Given the description of an element on the screen output the (x, y) to click on. 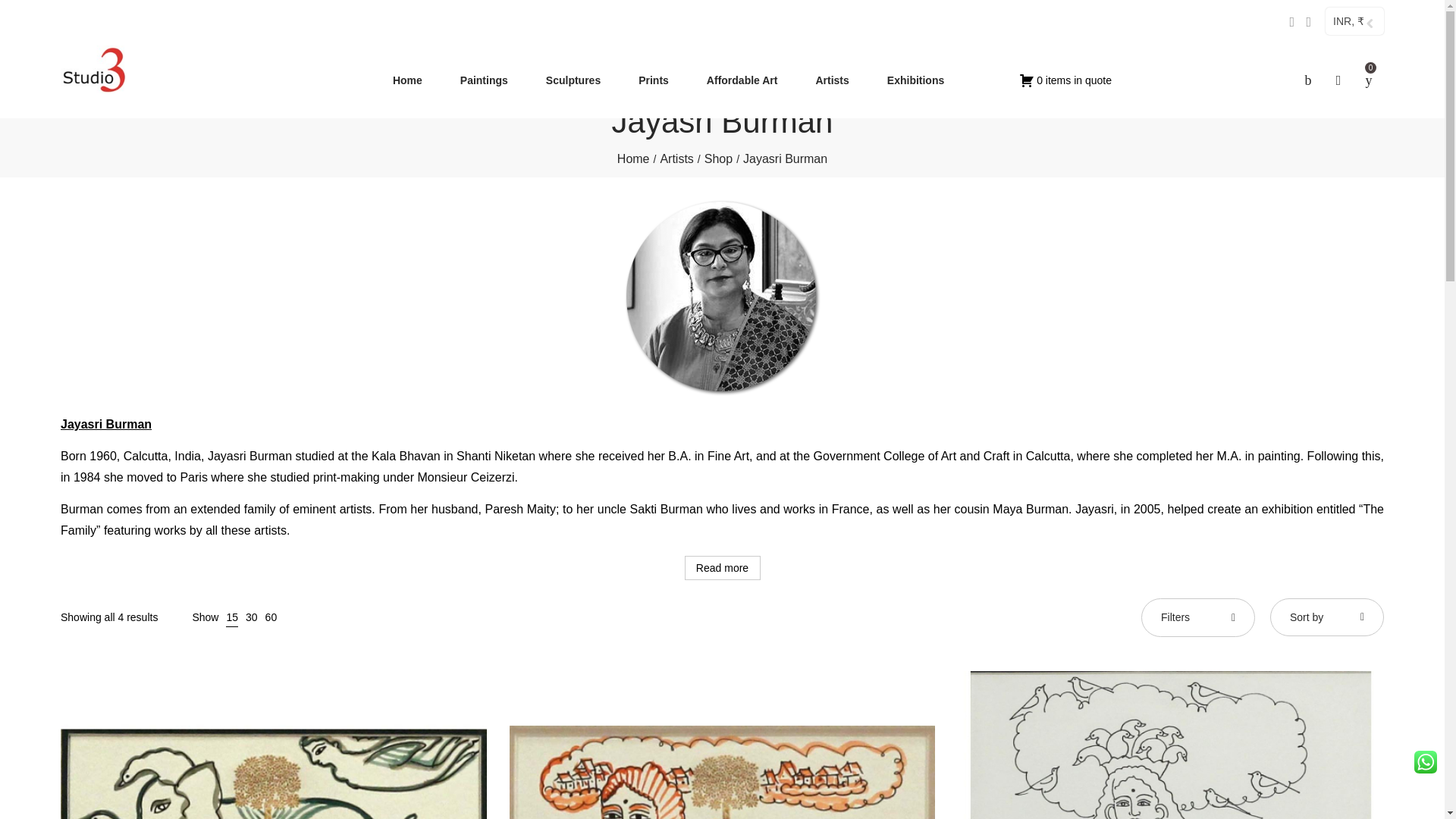
Paintings (483, 80)
Artists (676, 158)
Exhibitions (915, 80)
Affordable Art (742, 80)
0 (1369, 80)
Prints (653, 80)
Sculptures (572, 80)
Artists (831, 80)
Studio3 (93, 68)
Shop (718, 158)
Home (633, 158)
15 (231, 616)
Artists (676, 158)
30 (251, 616)
Home (407, 80)
